Given the description of an element on the screen output the (x, y) to click on. 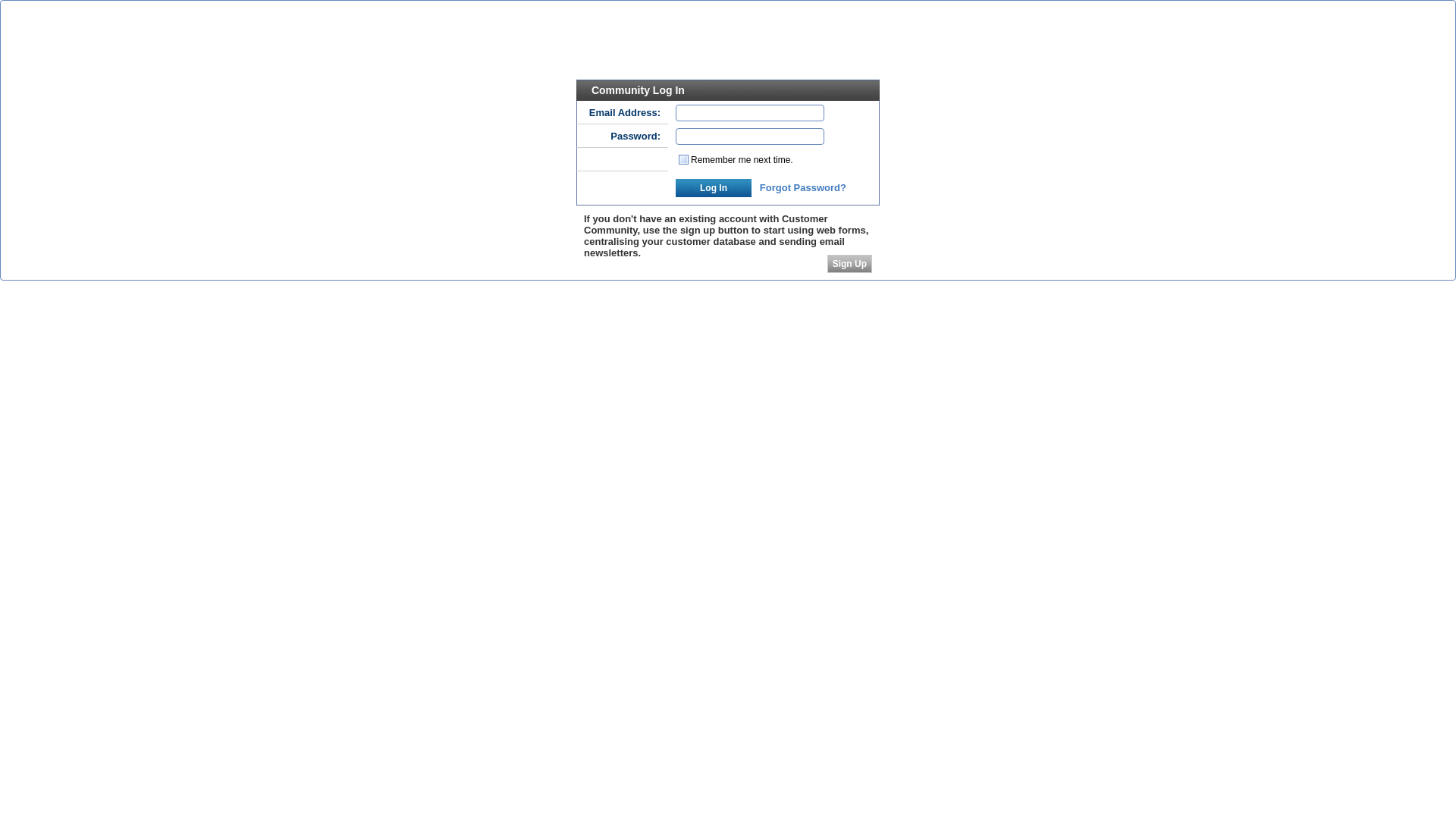
Log In Element type: text (713, 187)
Sign Up Element type: text (849, 263)
Forgot Password? Element type: text (802, 187)
